Given the description of an element on the screen output the (x, y) to click on. 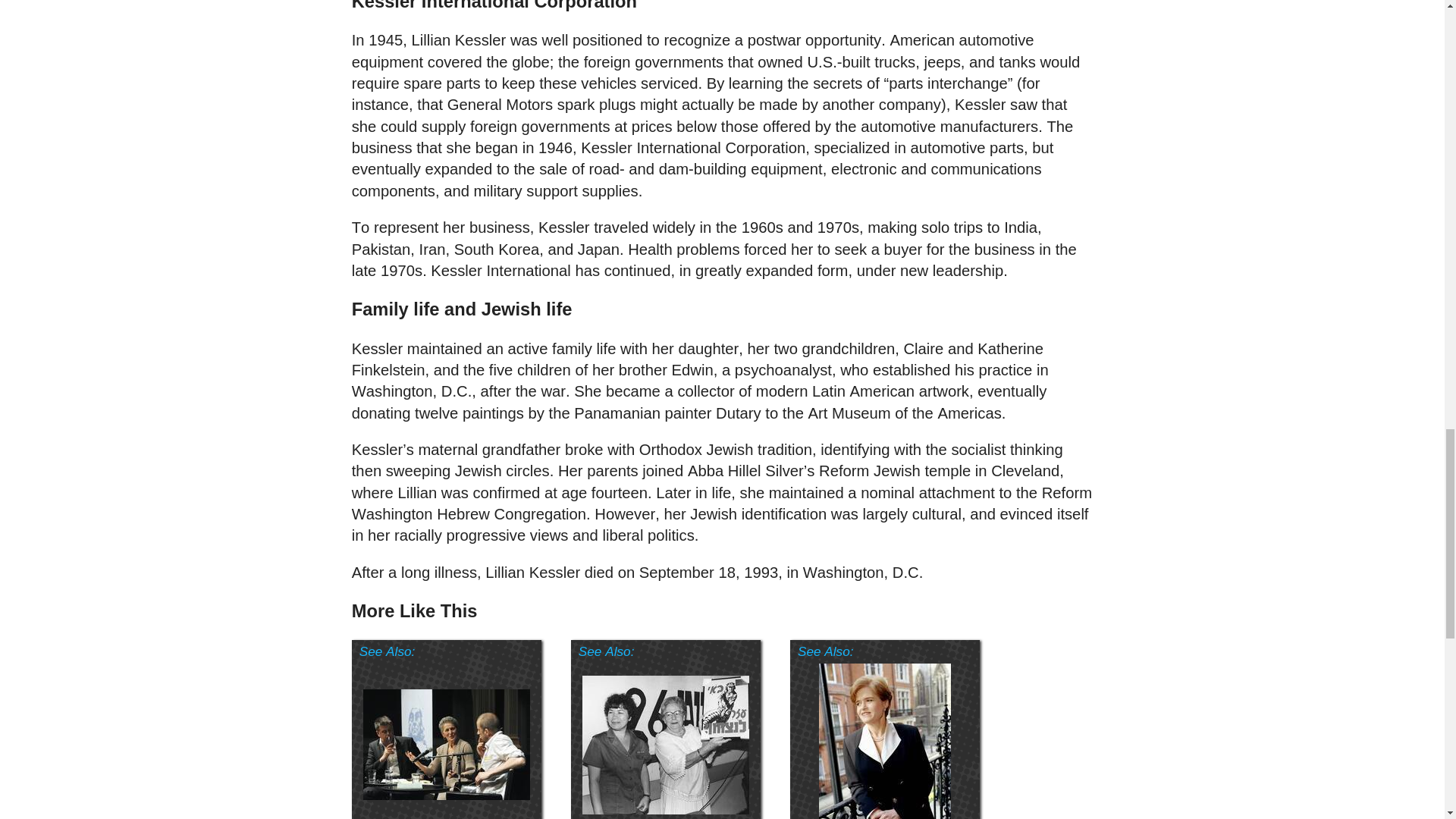
Deborah Lipstadt (884, 741)
Natalie Zemon Davis (445, 744)
